Given the description of an element on the screen output the (x, y) to click on. 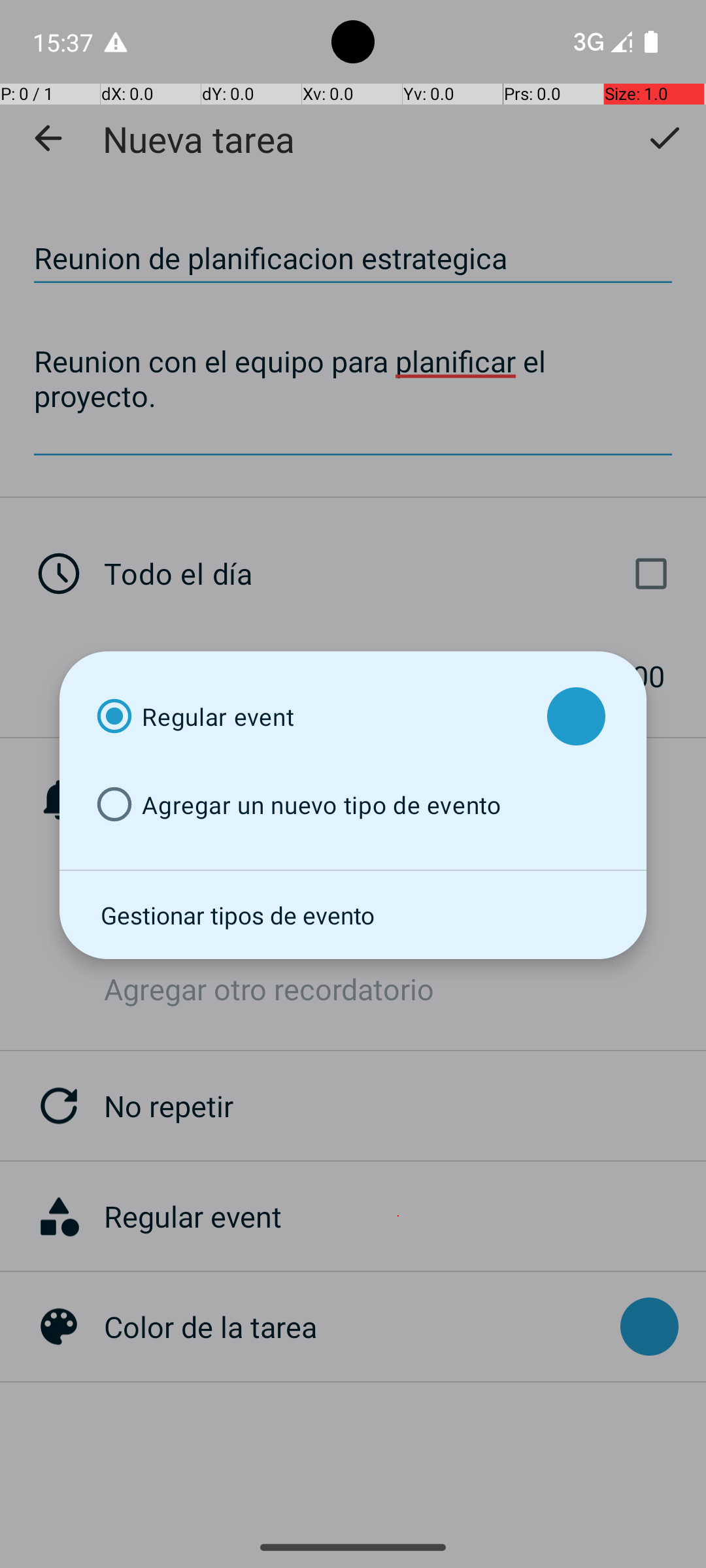
Agregar un nuevo tipo de evento Element type: android.widget.RadioButton (309, 804)
15:37 Element type: android.widget.TextView (64, 41)
